Given the description of an element on the screen output the (x, y) to click on. 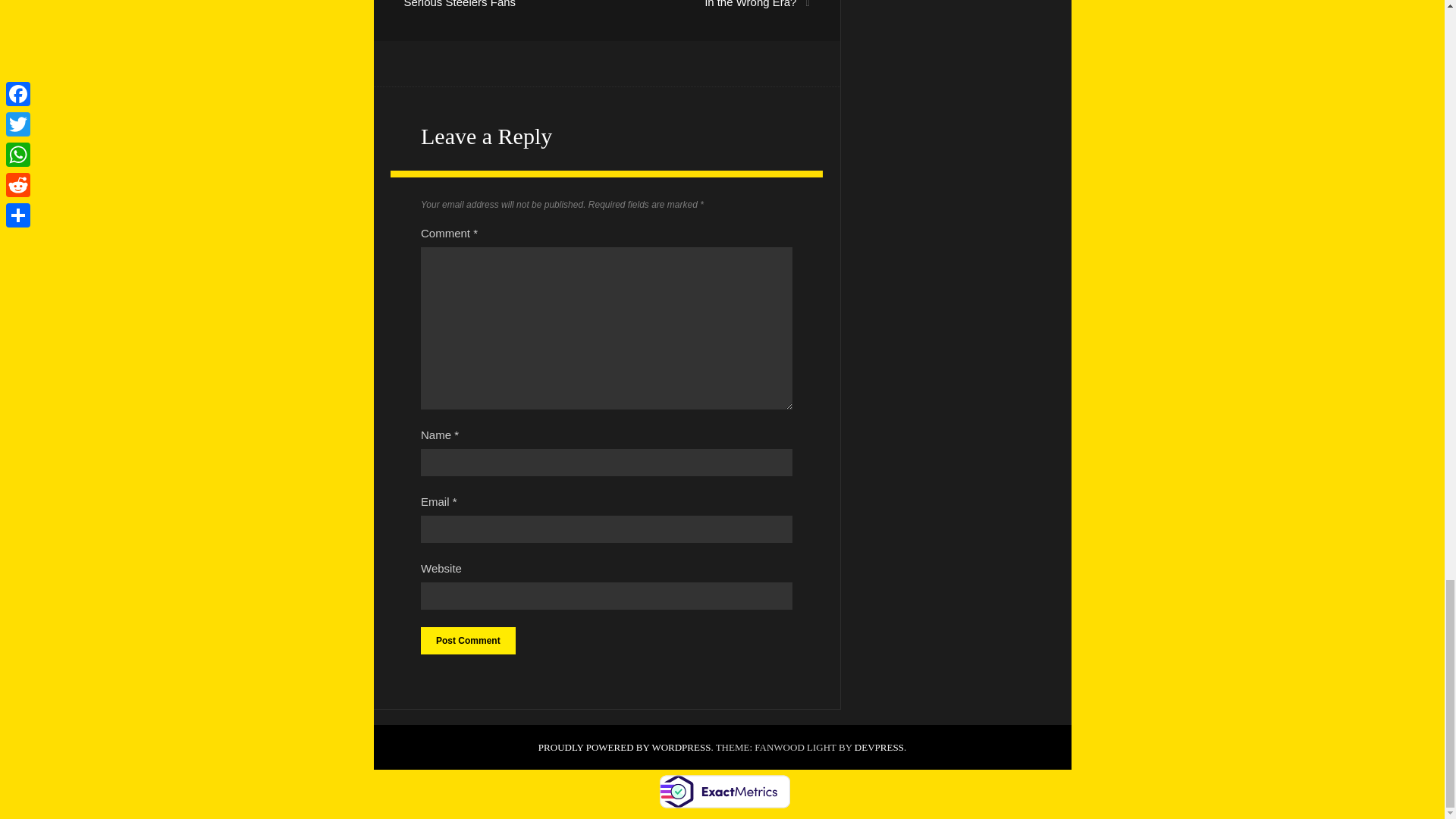
Post Comment (467, 640)
